Given the description of an element on the screen output the (x, y) to click on. 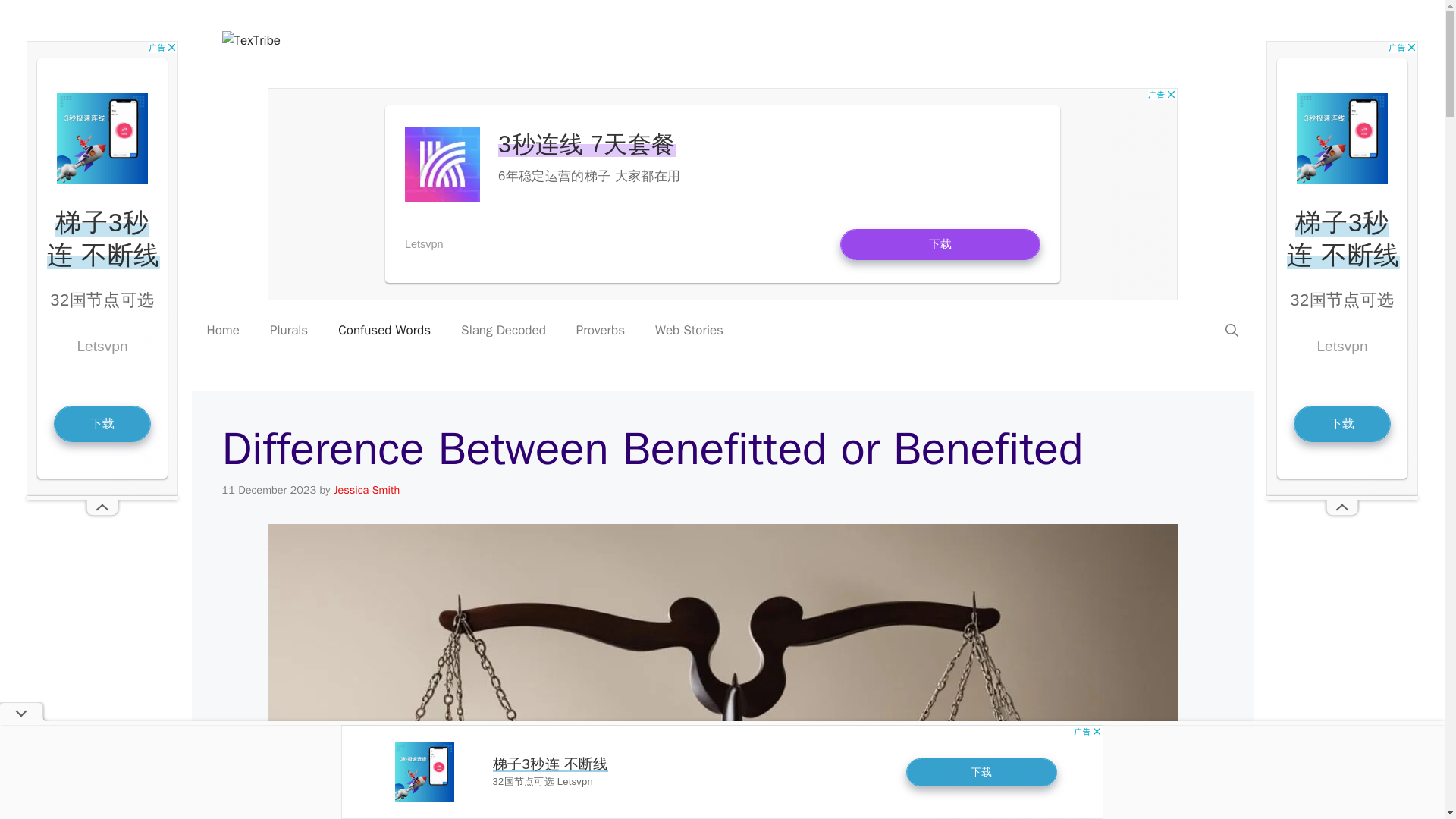
Slang Decoded (502, 329)
Web Stories (689, 329)
Confused Words (384, 329)
Home (221, 329)
View all posts by Jessica Smith (366, 489)
Proverbs (600, 329)
Jessica Smith (366, 489)
Plurals (288, 329)
